Given the description of an element on the screen output the (x, y) to click on. 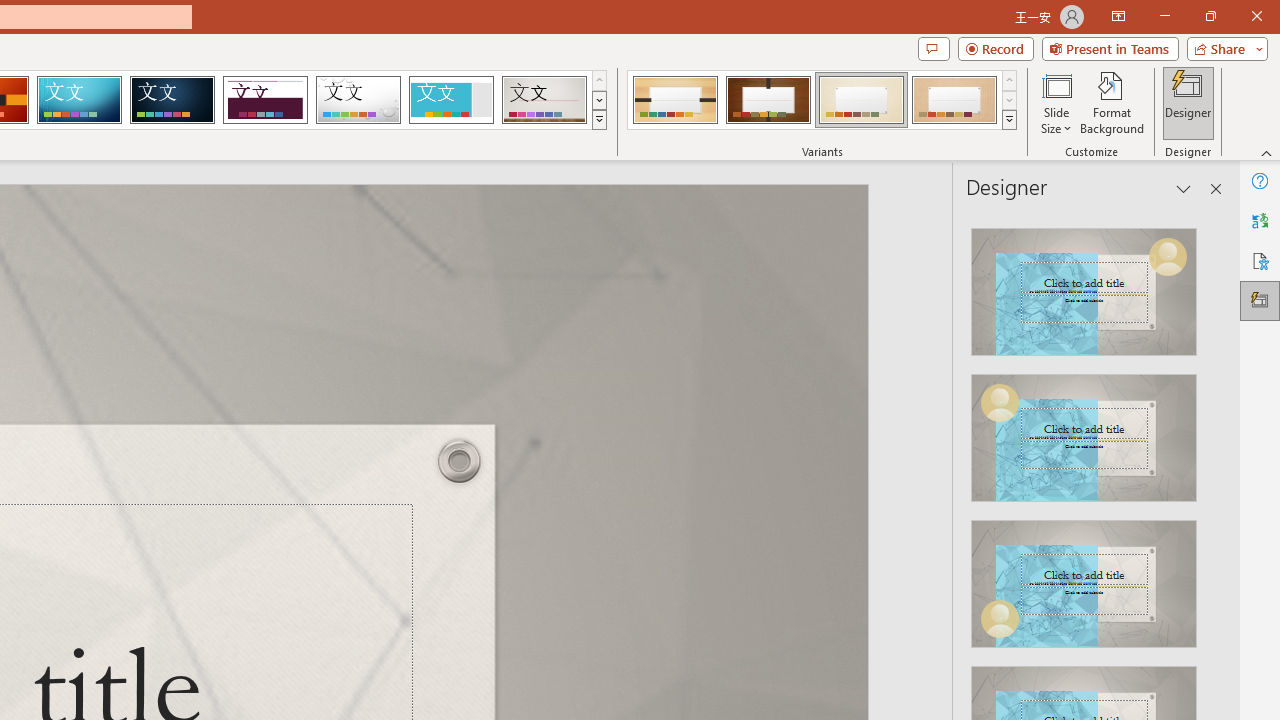
Organic Variant 1 (674, 100)
Collapse the Ribbon (1267, 152)
Frame (450, 100)
Gallery (544, 100)
Format Background (1111, 102)
Slide Size (1056, 102)
